Given the description of an element on the screen output the (x, y) to click on. 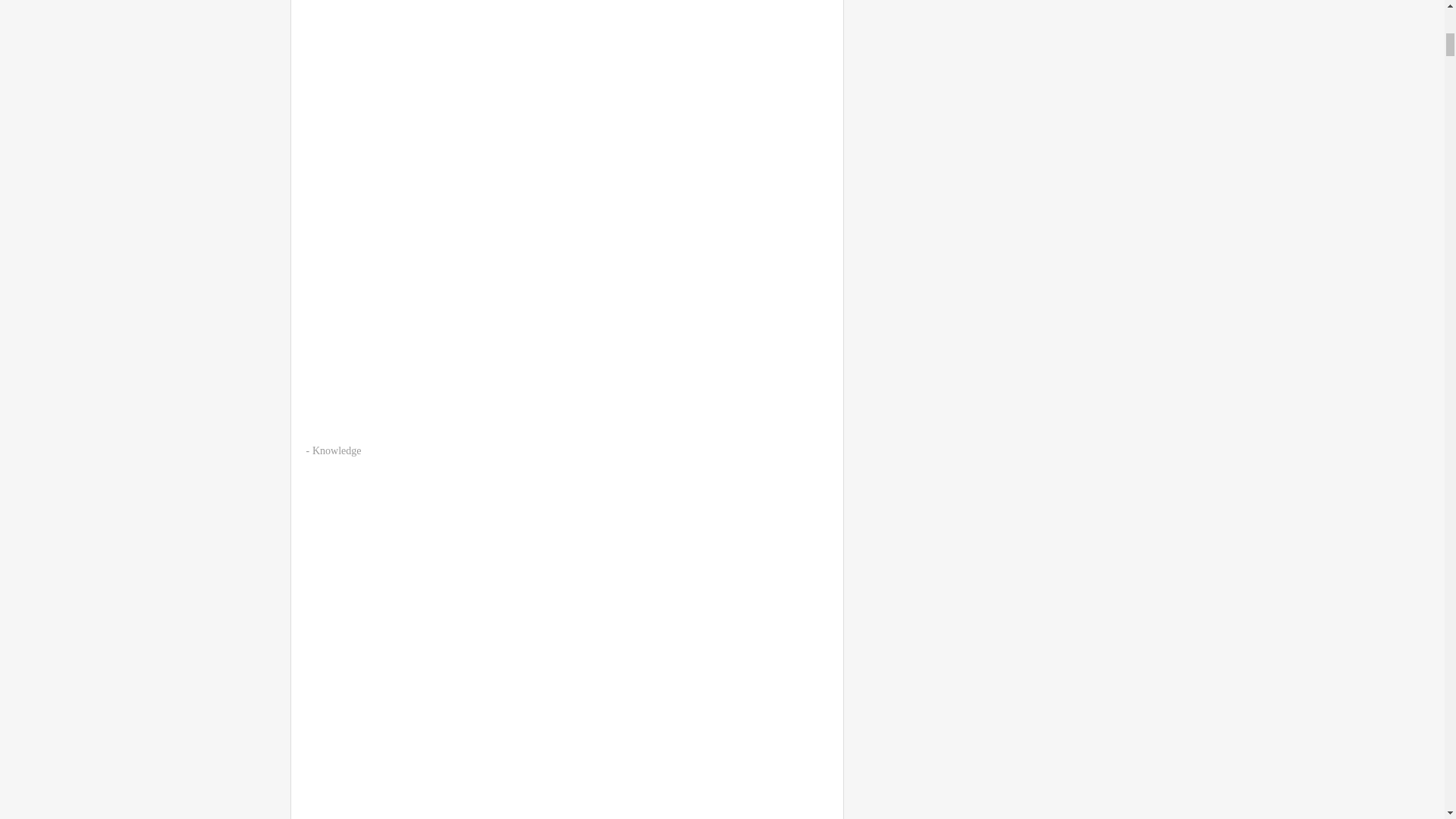
Knowledge (337, 450)
